Given the description of an element on the screen output the (x, y) to click on. 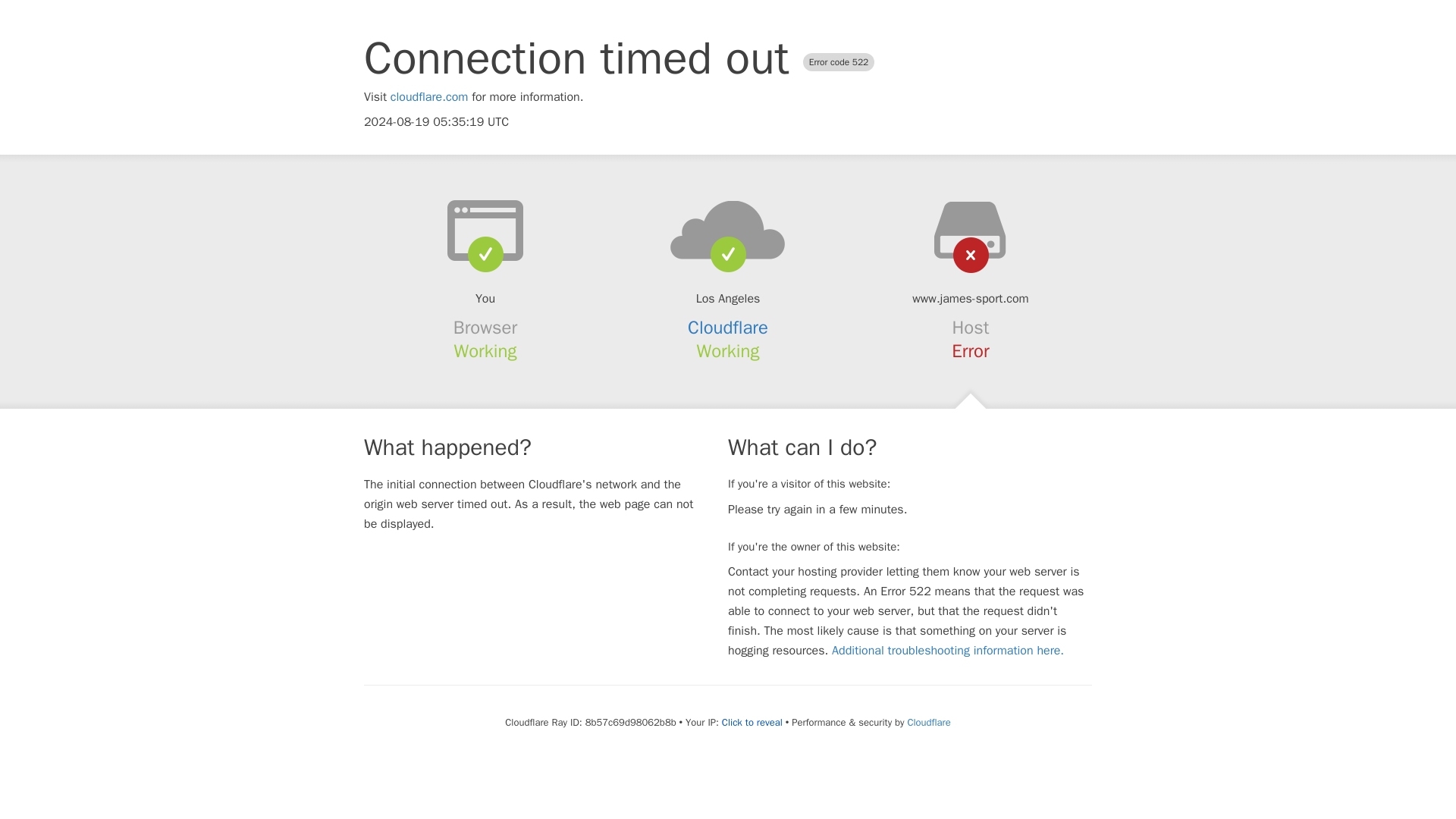
Click to reveal (752, 722)
Cloudflare (727, 327)
Additional troubleshooting information here. (947, 650)
cloudflare.com (429, 96)
Cloudflare (928, 721)
